Given the description of an element on the screen output the (x, y) to click on. 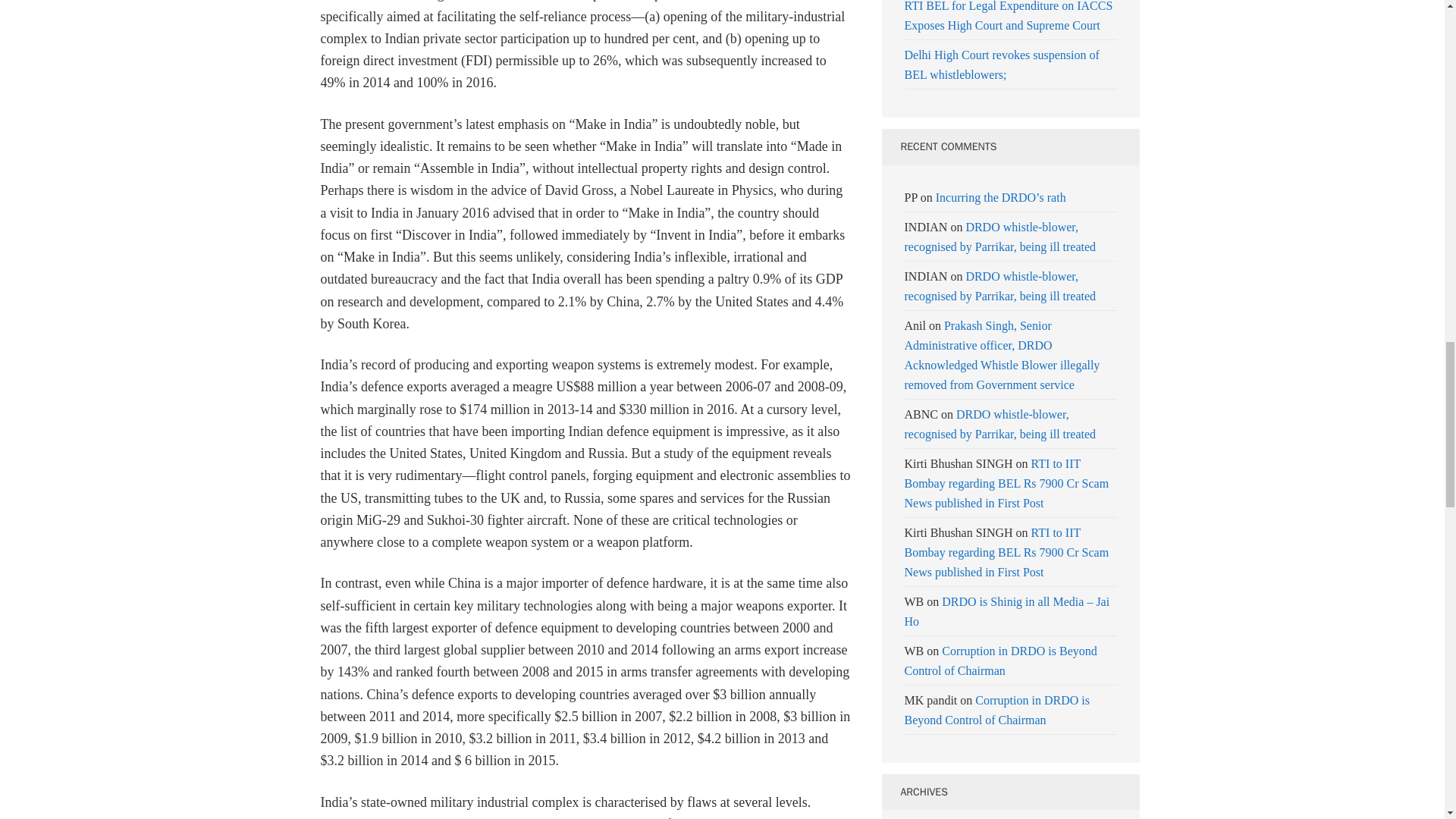
Delhi High Court revokes suspension of BEL whistleblowers; (1001, 64)
